Given the description of an element on the screen output the (x, y) to click on. 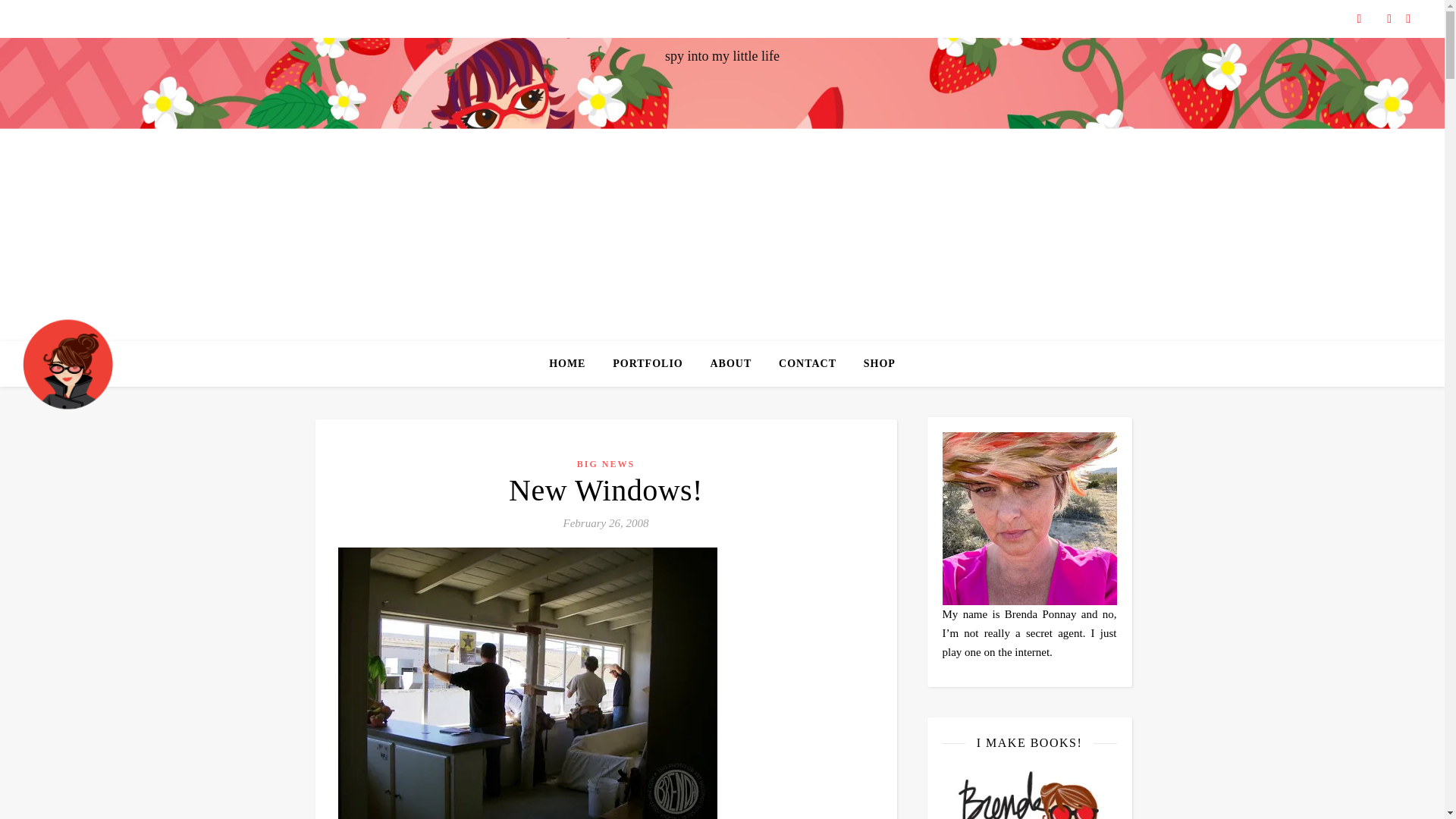
CONTACT (807, 363)
HOME (572, 363)
SHOP (873, 363)
Secret Agent Josephine (68, 363)
BIG NEWS (605, 463)
PORTFOLIO (647, 363)
ABOUT (729, 363)
